Given the description of an element on the screen output the (x, y) to click on. 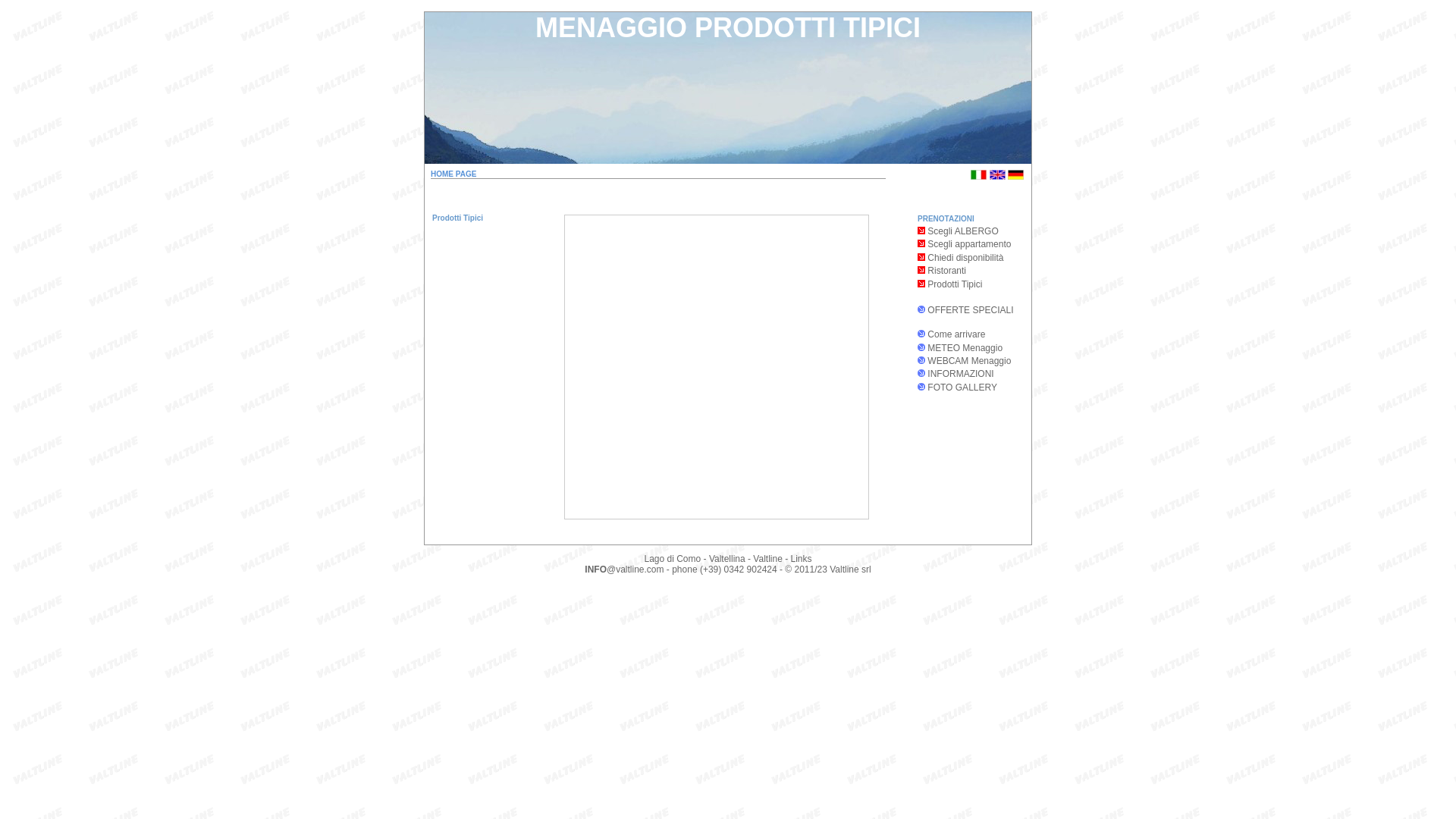
INFO@valtline.com Element type: text (623, 569)
METEO Menaggio Element type: text (964, 347)
Valtellina Element type: text (727, 558)
HOME PAGE Element type: text (453, 173)
Come arrivare Element type: text (956, 334)
Prodotti Tipici Element type: text (949, 284)
Scegli appartamento Element type: text (963, 243)
Scegli ALBERGO Element type: text (957, 230)
Lago di Como Element type: text (671, 558)
Ristoranti Element type: text (941, 270)
INFORMAZIONI Element type: text (960, 373)
Links Element type: text (800, 558)
OFFERTE SPECIALI Element type: text (970, 309)
Valtline Element type: text (767, 558)
WEBCAM Menaggio Element type: text (968, 360)
FOTO GALLERY Element type: text (962, 387)
